Given the description of an element on the screen output the (x, y) to click on. 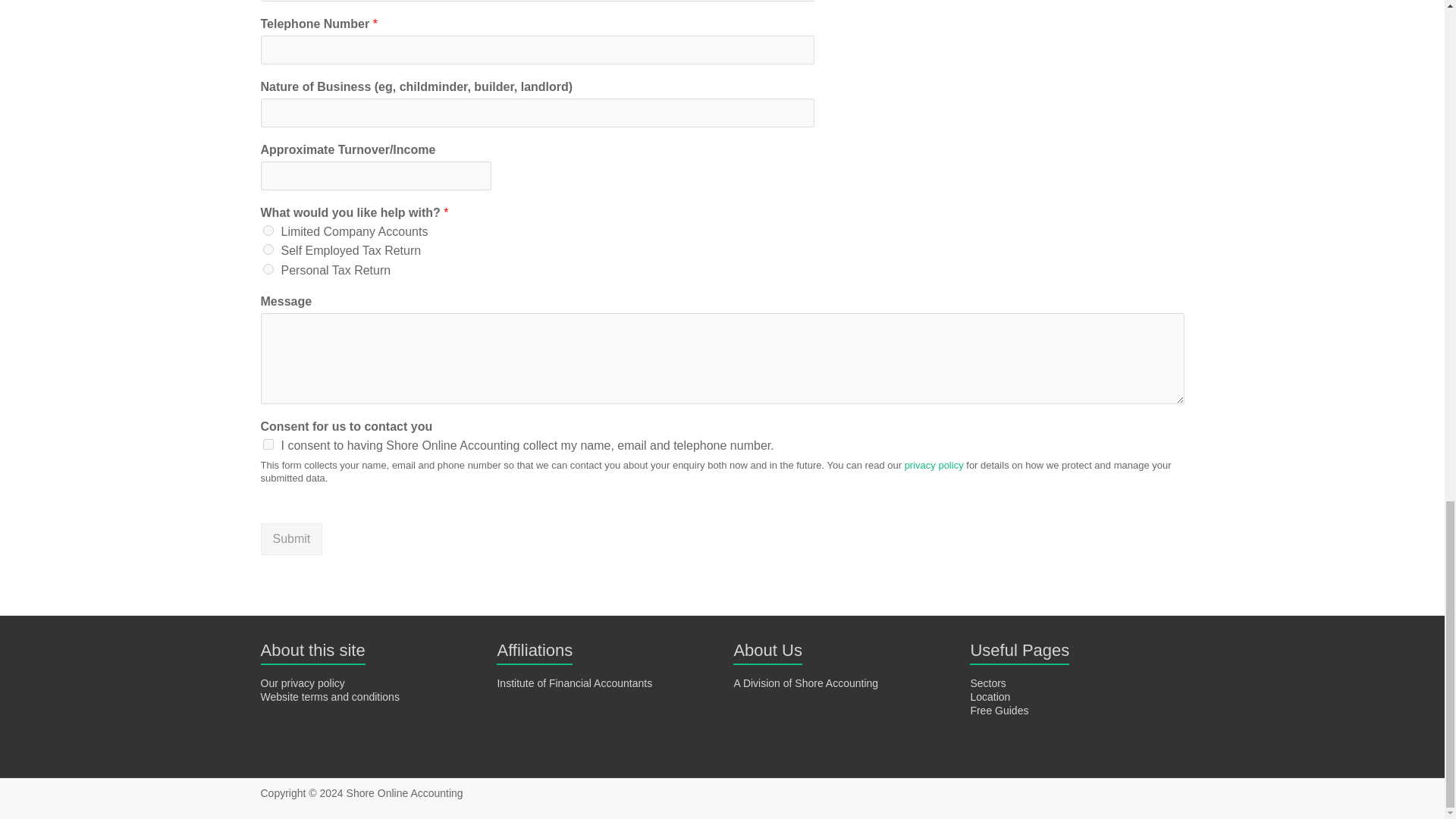
Self Employed Tax Return (267, 249)
Personal Tax Return (267, 268)
Limited Company Accounts (267, 230)
Our privacy policy (302, 683)
Our Privacy Policy (302, 683)
Website terms and conditions (329, 696)
Location (989, 696)
Free Guides (998, 710)
privacy policy (933, 464)
